Given the description of an element on the screen output the (x, y) to click on. 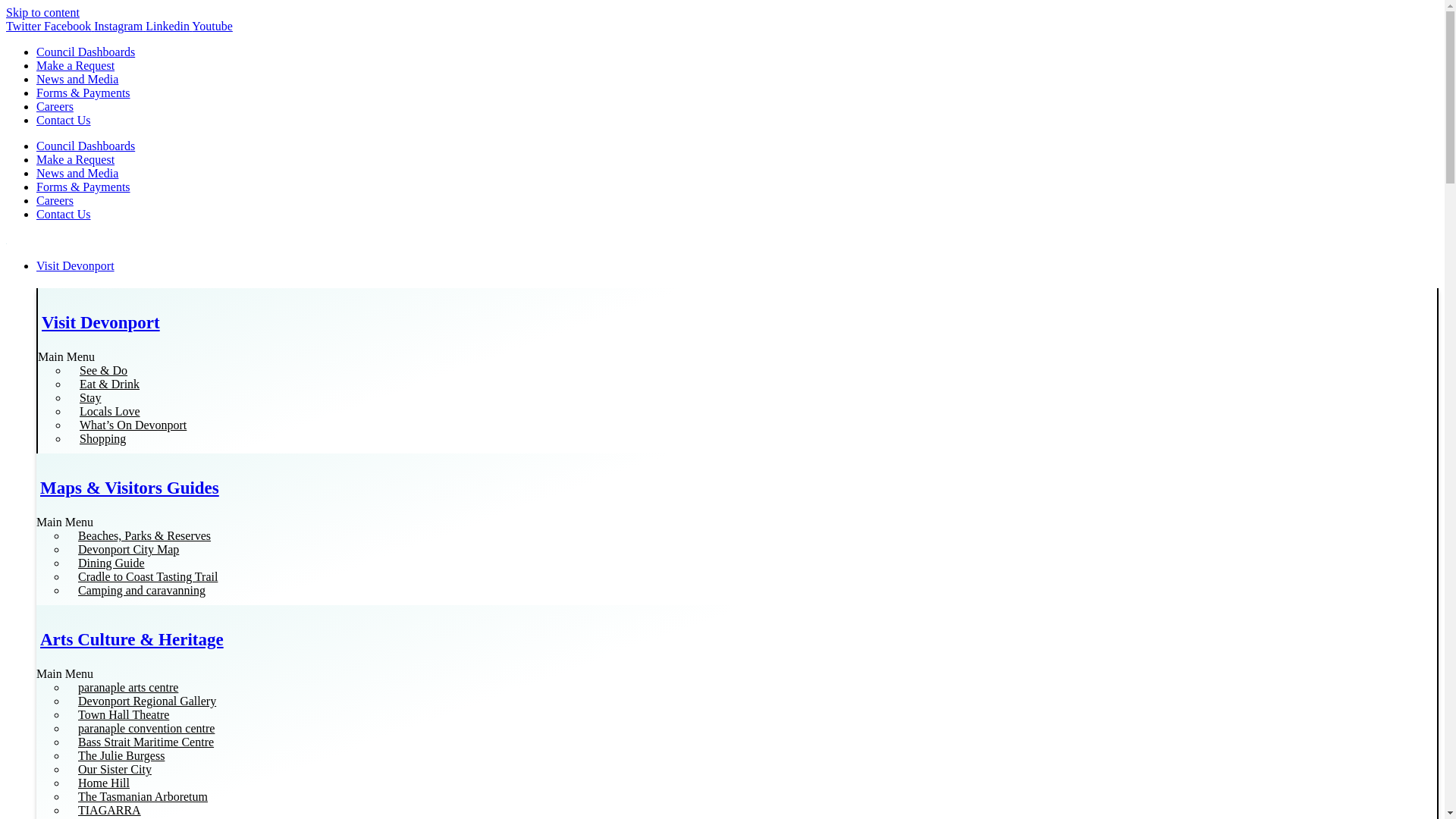
Careers Element type: text (54, 200)
Forms & Payments Element type: text (83, 92)
The Tasmanian Arboretum Element type: text (142, 796)
Visit Devonport Element type: text (737, 266)
Arts Culture & Heritage Element type: text (131, 639)
Twitter Element type: text (24, 25)
Home Hill Element type: text (103, 782)
Stay Element type: text (90, 397)
Eat & Drink Element type: text (109, 383)
paranaple convention centre Element type: text (145, 727)
Council Dashboards Element type: text (85, 145)
Devonport City Map Element type: text (128, 548)
Dining Guide Element type: text (111, 562)
Bass Strait Maritime Centre Element type: text (145, 741)
Council Dashboards Element type: text (85, 51)
Make a Request Element type: text (75, 159)
Youtube Element type: text (211, 25)
News and Media Element type: text (77, 78)
See & Do Element type: text (103, 369)
Skip to content Element type: text (42, 12)
Make a Request Element type: text (75, 65)
Contact Us Element type: text (63, 213)
Contact Us Element type: text (63, 119)
Locals Love Element type: text (109, 410)
Beaches, Parks & Reserves Element type: text (144, 535)
Visit Devonport Element type: text (100, 322)
Forms & Payments Element type: text (83, 186)
News and Media Element type: text (77, 172)
Facebook Element type: text (68, 25)
Cradle to Coast Tasting Trail Element type: text (147, 576)
Town Hall Theatre Element type: text (123, 714)
Linkedin Element type: text (168, 25)
Shopping Element type: text (102, 438)
Maps & Visitors Guides Element type: text (129, 487)
Instagram Element type: text (119, 25)
The Julie Burgess Element type: text (120, 755)
Camping and caravanning Element type: text (141, 589)
Devonport Regional Gallery Element type: text (146, 700)
paranaple arts centre Element type: text (127, 686)
Our Sister City Element type: text (114, 768)
Careers Element type: text (54, 106)
